Given the description of an element on the screen output the (x, y) to click on. 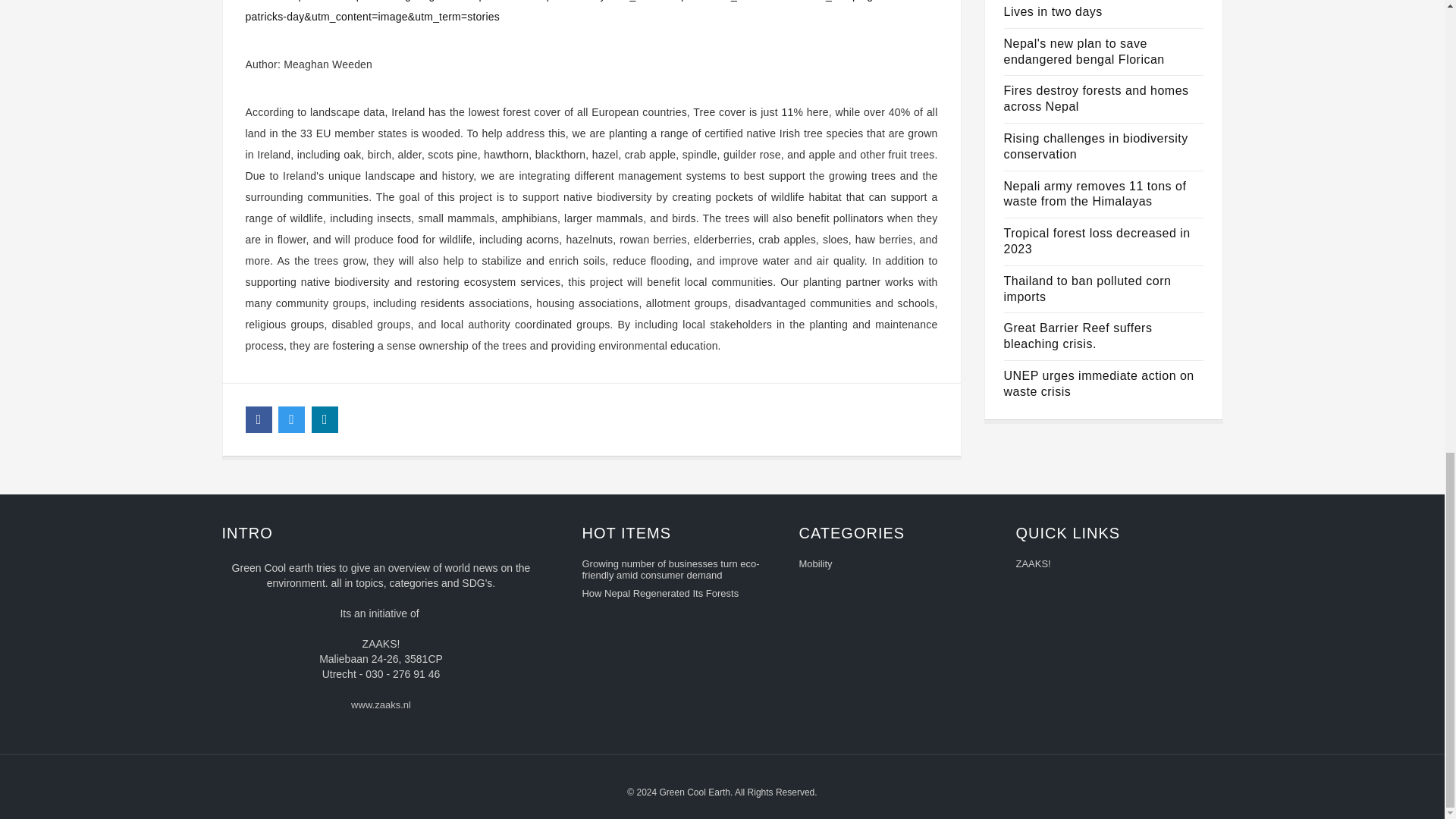
Floods and landslides take 15 Lives in two days (1089, 9)
Great Barrier Reef suffers bleaching crisis. (1078, 335)
How Nepal Regenerated Its Forests (679, 595)
Thailand to ban polluted corn imports (1088, 288)
Fires destroy forests and homes across Nepal (1096, 98)
Mobility (896, 565)
ZAAKS! (1113, 565)
Nepal's new plan to save endangered bengal Florican (1084, 51)
Rising challenges in biodiversity conservation (1096, 145)
Nepali army removes 11 tons of waste from the Himalayas (1095, 193)
Tropical forest loss decreased in 2023 (1097, 240)
www.zaaks.nl (380, 706)
UNEP urges immediate action on waste crisis (1098, 383)
